Given the description of an element on the screen output the (x, y) to click on. 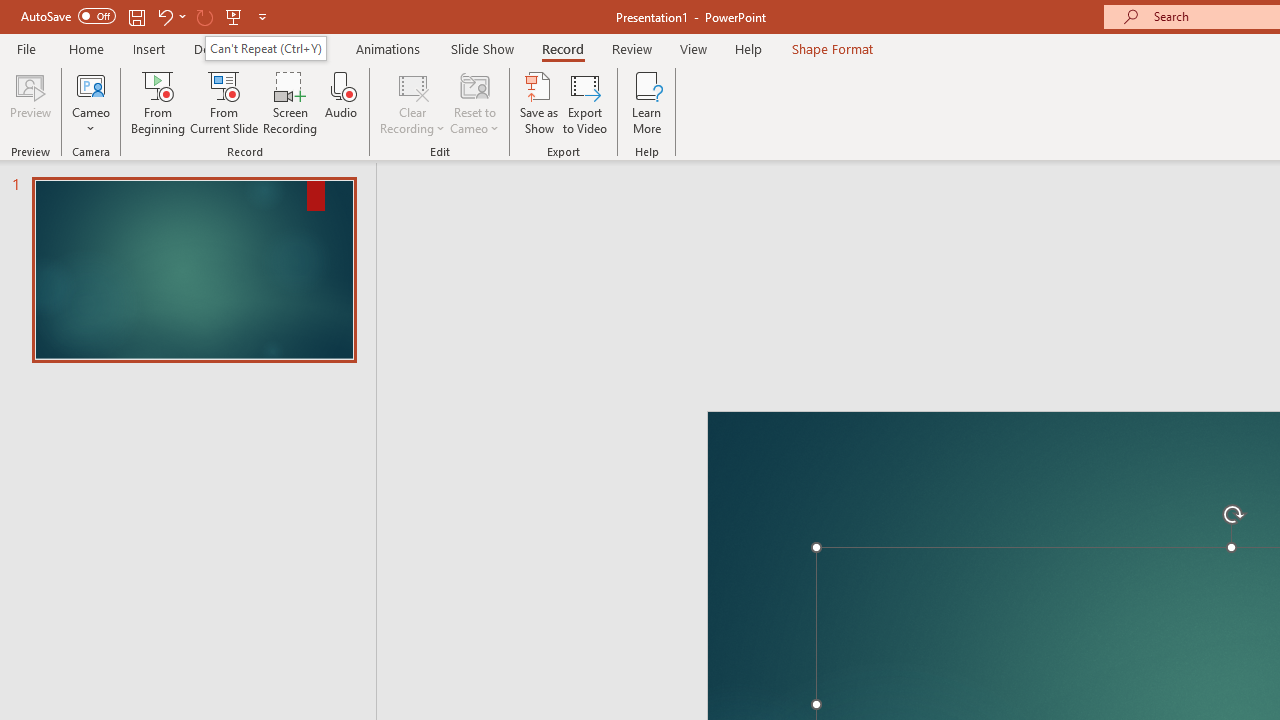
From Current Slide... (224, 102)
Save as Show (539, 102)
Learn More (646, 102)
From Beginning... (158, 102)
Screen Recording (290, 102)
Clear Recording (412, 102)
